Given the description of an element on the screen output the (x, y) to click on. 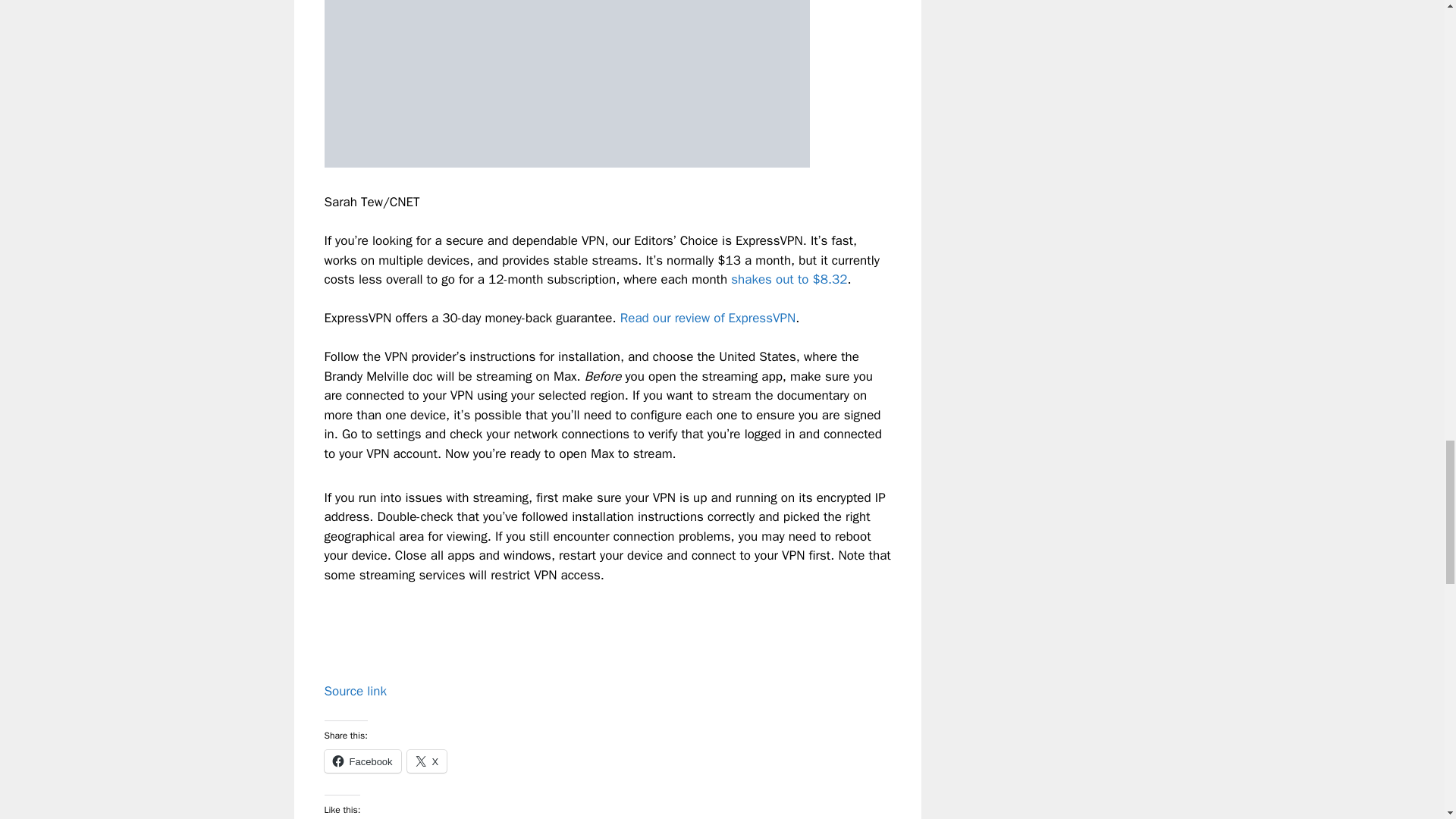
Click to share on X (426, 761)
Click to share on Facebook (362, 761)
Read our review of ExpressVPN (708, 317)
Facebook (362, 761)
Brandy Melville HBO Documentary: When You Can Watch It 4 (566, 83)
Source link (355, 691)
